Given the description of an element on the screen output the (x, y) to click on. 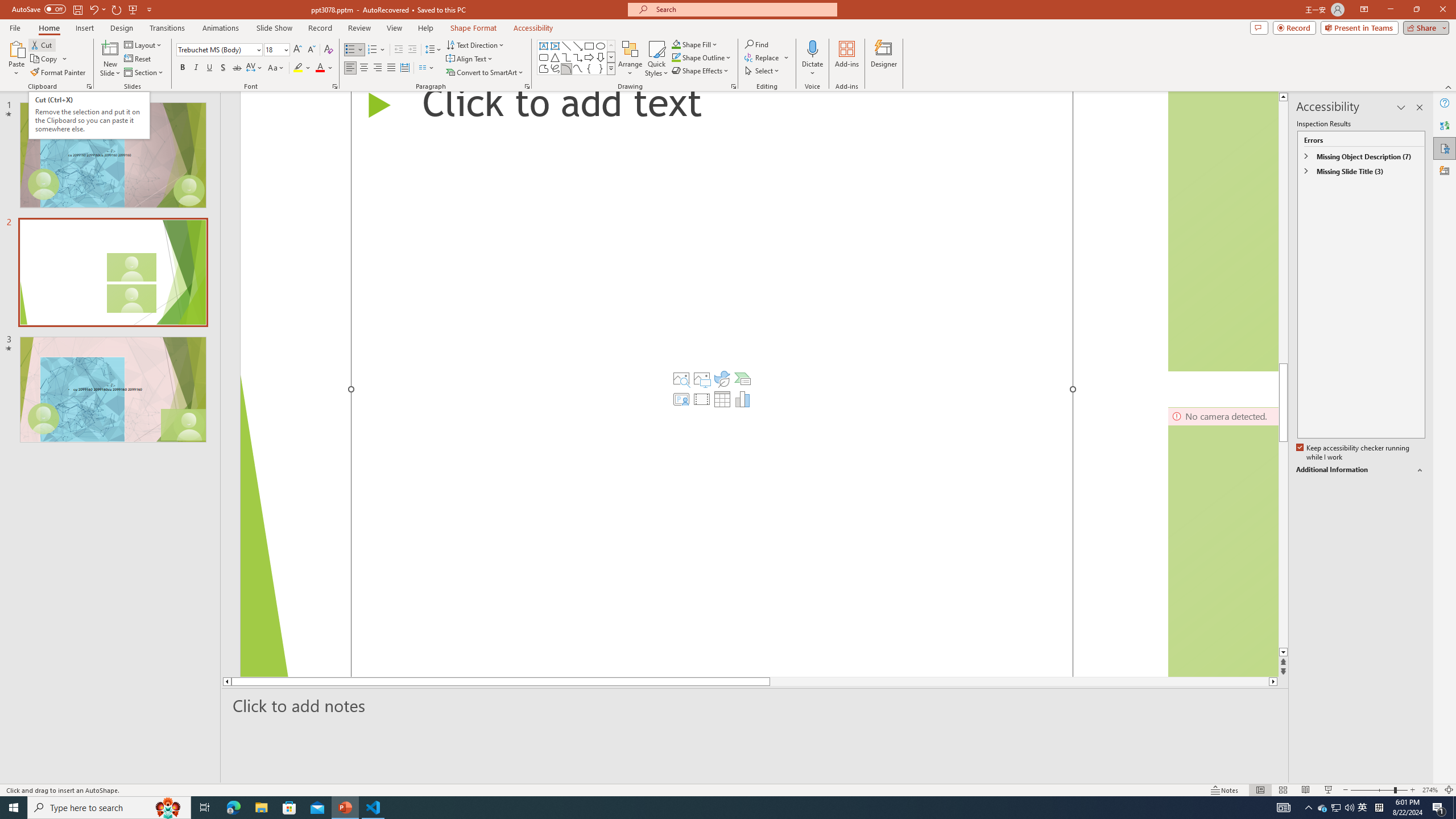
Content Placeholder (711, 383)
